Given the description of an element on the screen output the (x, y) to click on. 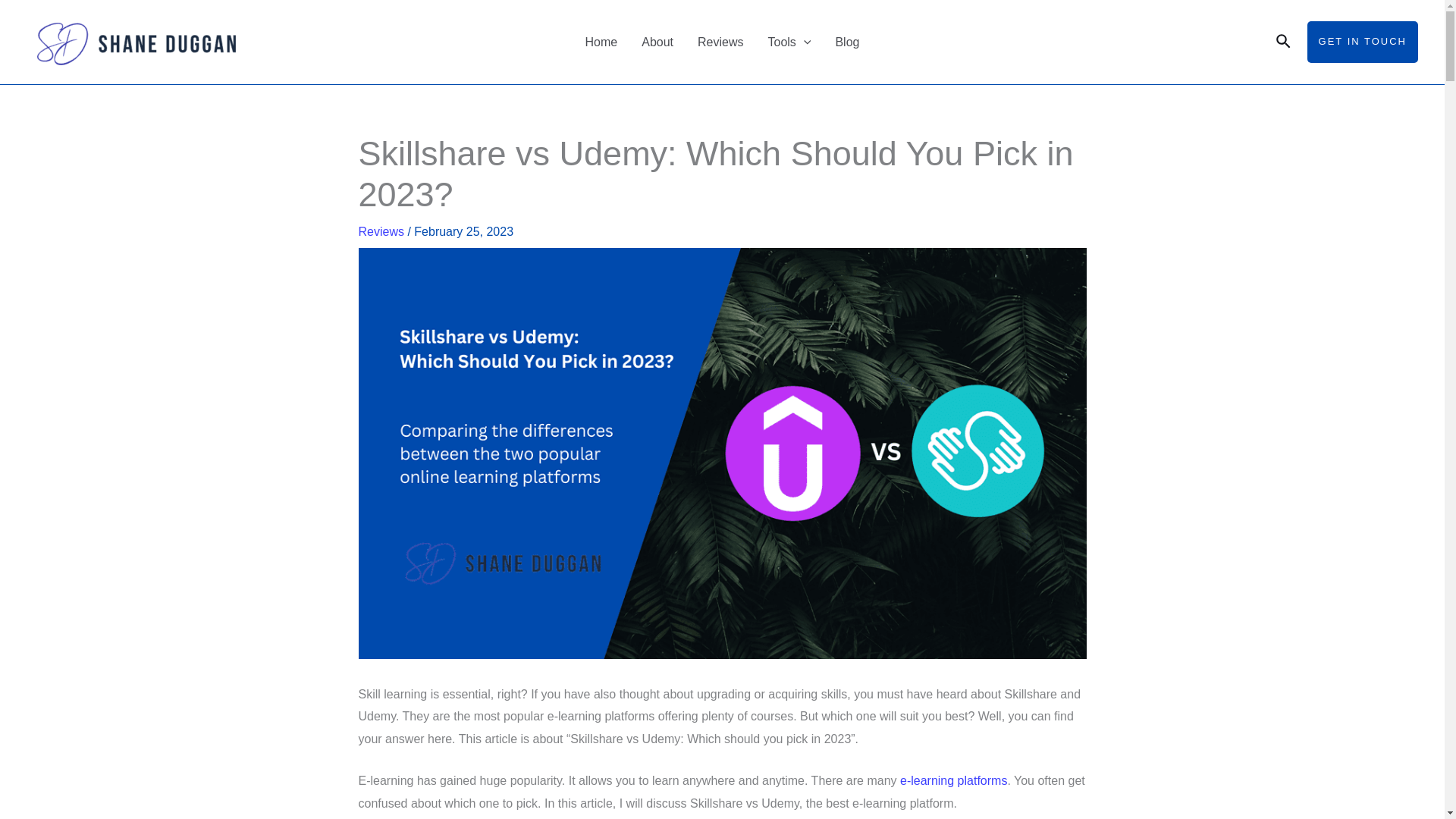
Tools (788, 42)
GET IN TOUCH (1362, 41)
e-learning platforms (953, 780)
Reviews (720, 42)
Reviews (380, 231)
